Given the description of an element on the screen output the (x, y) to click on. 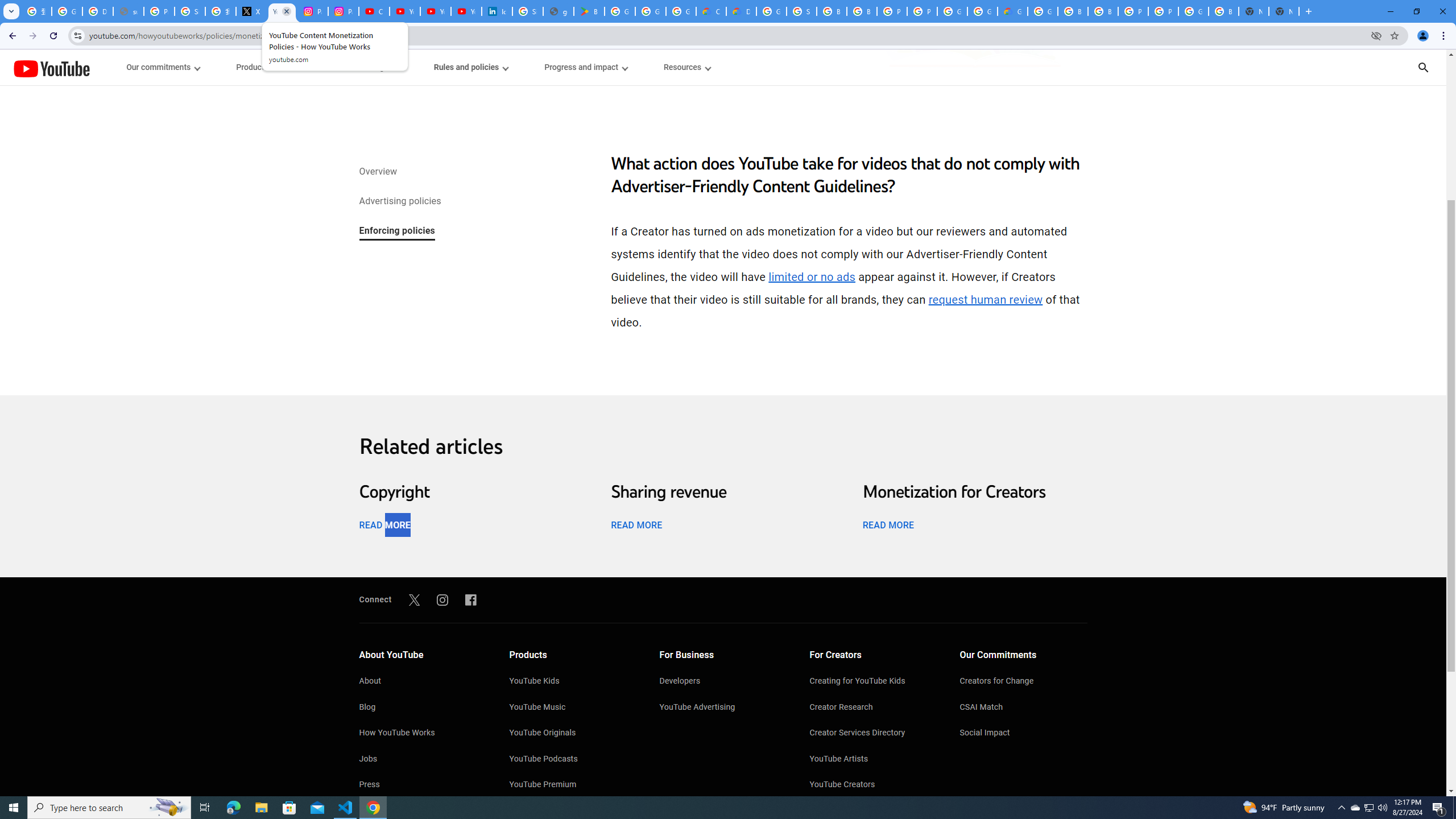
Jobs (422, 759)
Rules and policies menupopup (470, 67)
About (422, 682)
limited or no ads (812, 277)
Google Cloud Platform (951, 11)
Browse Chrome as a guest - Computer - Google Chrome Help (1102, 11)
YouTube Culture & Trends - YouTube Top 10, 2021 (434, 11)
Social Impact (1023, 733)
Progress and impact menupopup (585, 67)
